Given the description of an element on the screen output the (x, y) to click on. 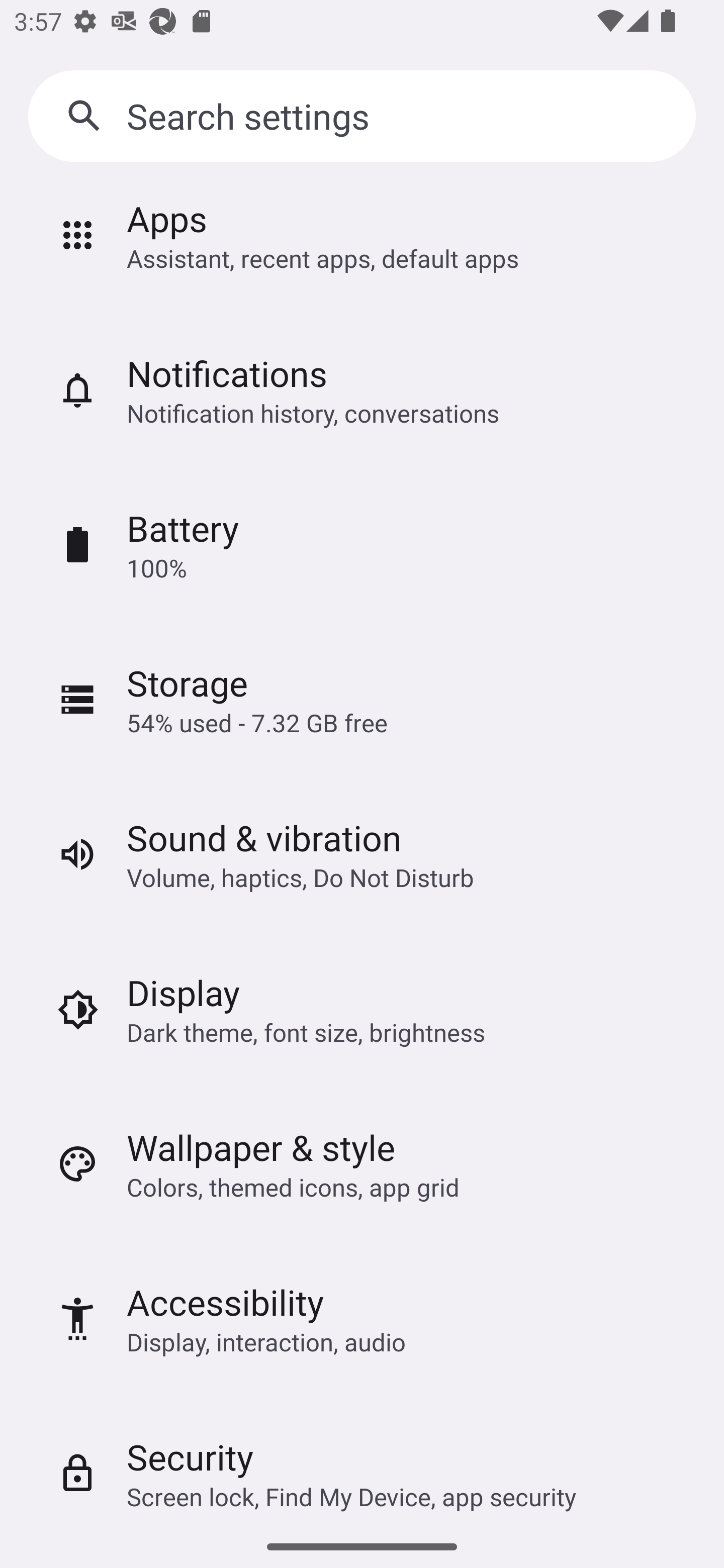
Search settings (361, 115)
Apps Assistant, recent apps, default apps (362, 250)
Notifications Notification history, conversations (362, 389)
Battery 100% (362, 544)
Storage 54% used - 7.32 GB free (362, 699)
Sound & vibration Volume, haptics, Do Not Disturb (362, 854)
Display Dark theme, font size, brightness (362, 1008)
Wallpaper & style Colors, themed icons, app grid (362, 1163)
Accessibility Display, interaction, audio (362, 1318)
Security Screen lock, Find My Device, app security (362, 1460)
